Given the description of an element on the screen output the (x, y) to click on. 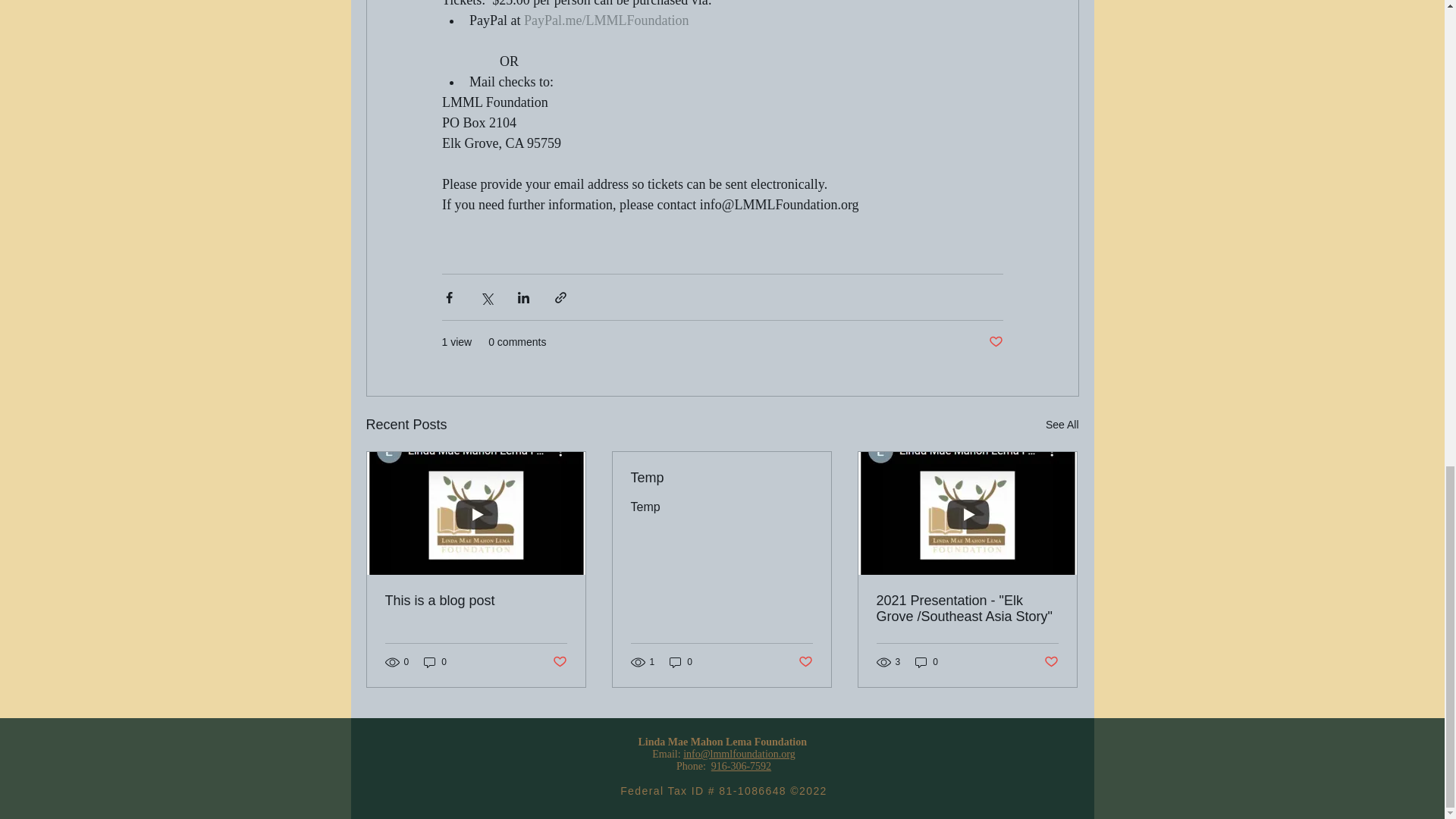
Post not marked as liked (995, 342)
Post not marked as liked (1050, 662)
This is a blog post (476, 600)
Post not marked as liked (558, 662)
0 (681, 661)
Post not marked as liked (804, 662)
See All (1061, 424)
0 (435, 661)
0 (926, 661)
Temp (721, 478)
